Given the description of an element on the screen output the (x, y) to click on. 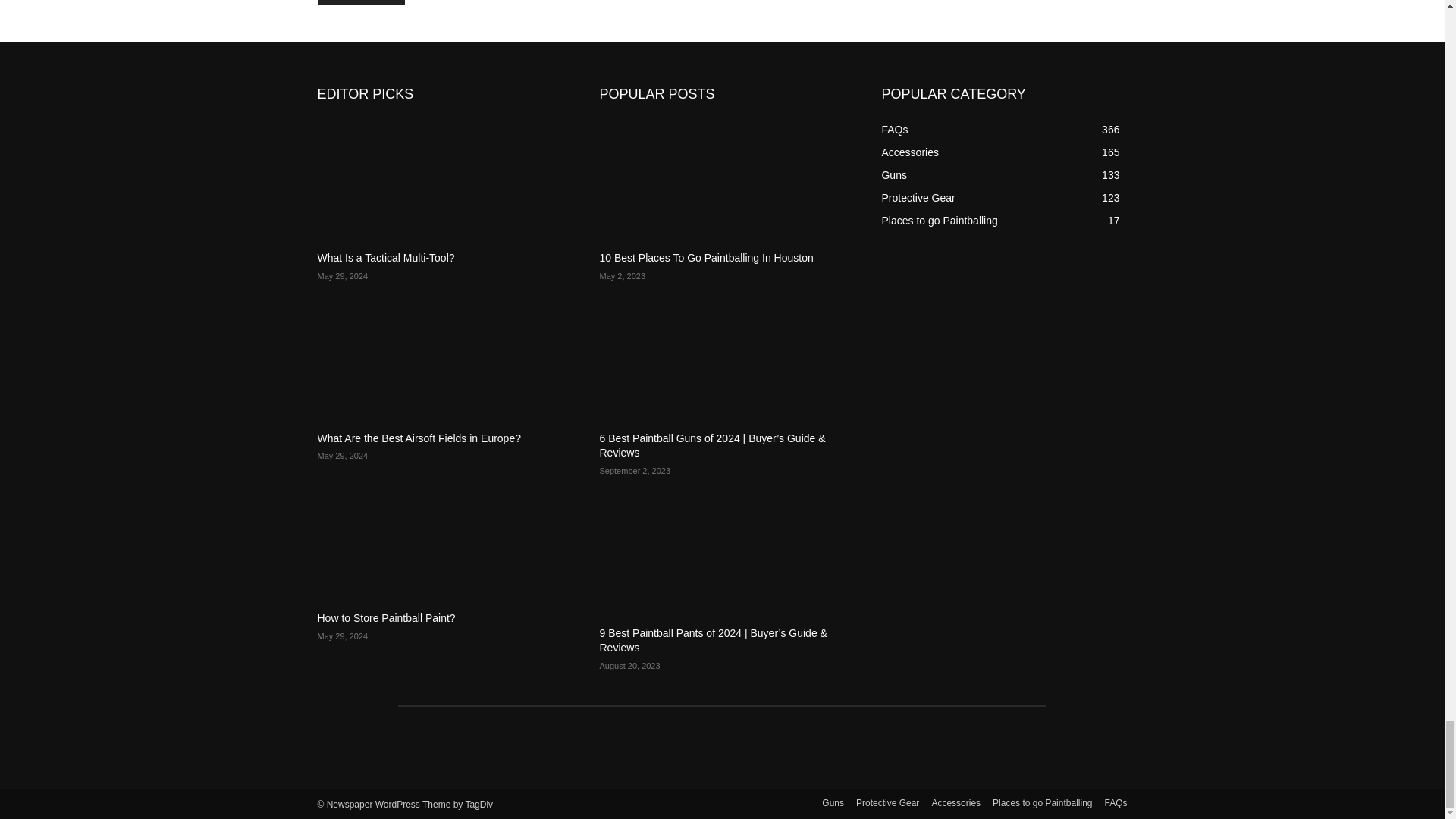
Post Comment (360, 2)
